Given the description of an element on the screen output the (x, y) to click on. 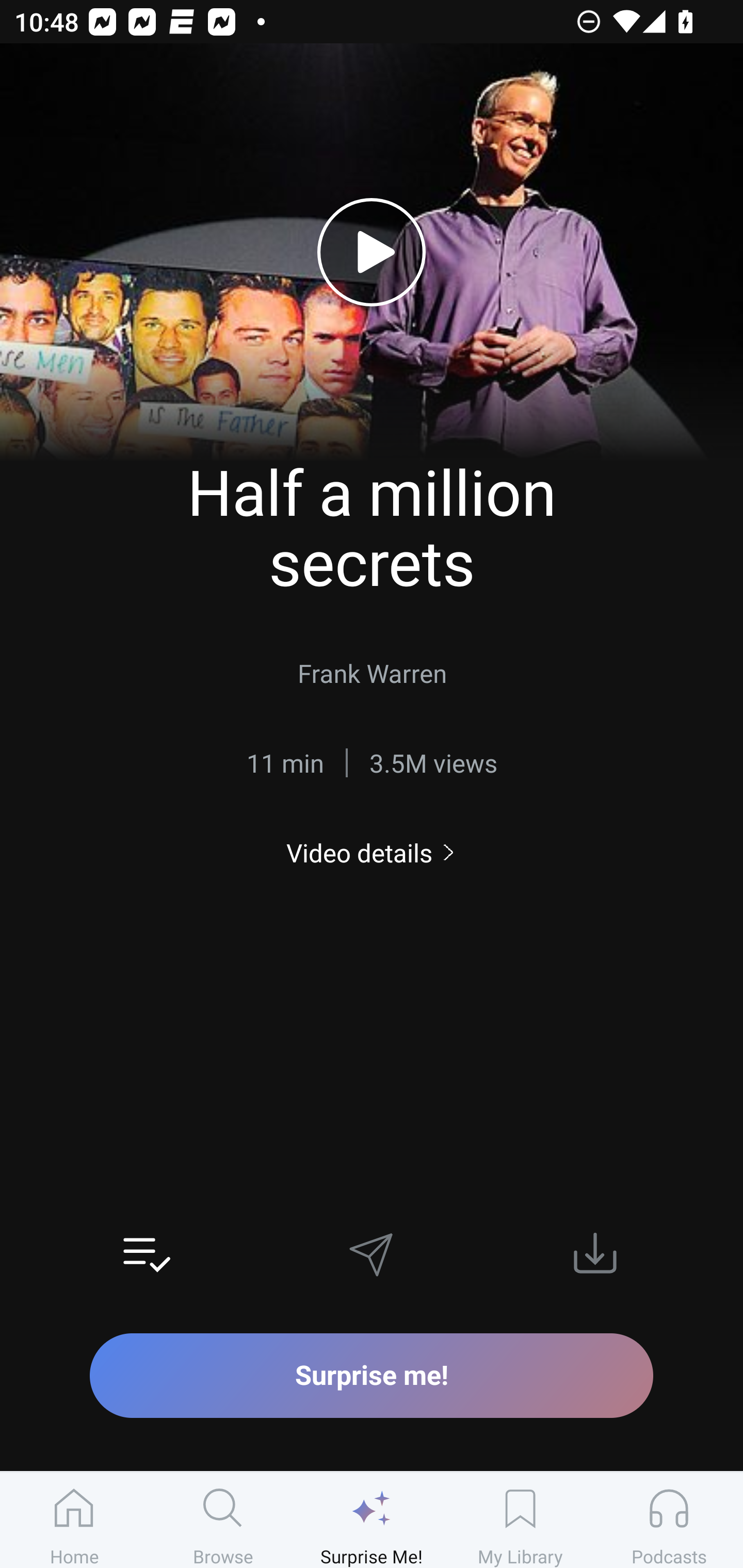
Video details (371, 852)
Surprise me! (371, 1374)
Home (74, 1520)
Browse (222, 1520)
Surprise Me! (371, 1520)
My Library (519, 1520)
Podcasts (668, 1520)
